Given the description of an element on the screen output the (x, y) to click on. 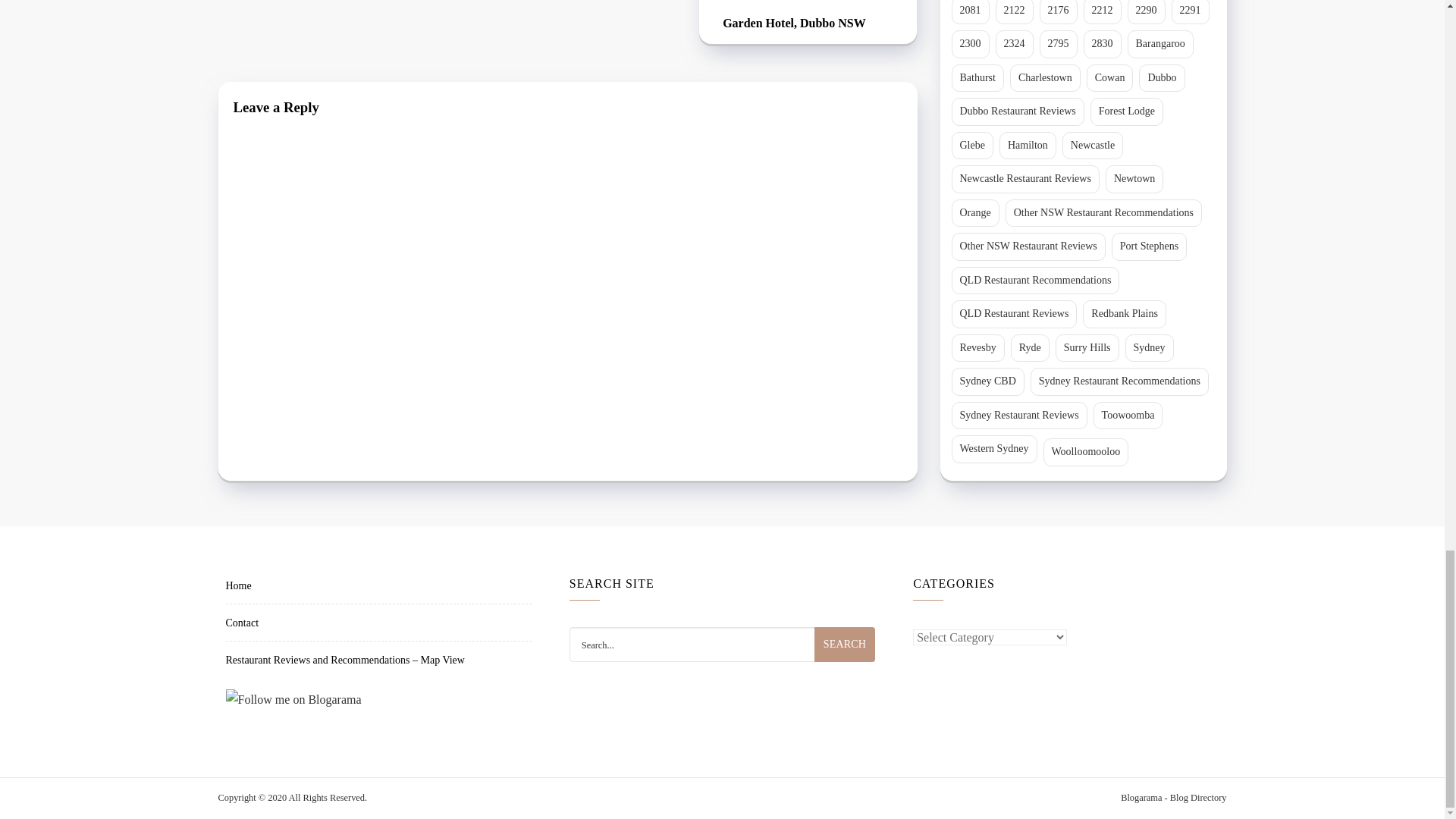
Search (844, 644)
Search (844, 644)
Garden Hotel, Dubbo NSW (807, 24)
Blogarama.com - Follow me on Blogarama (1173, 798)
